Given the description of an element on the screen output the (x, y) to click on. 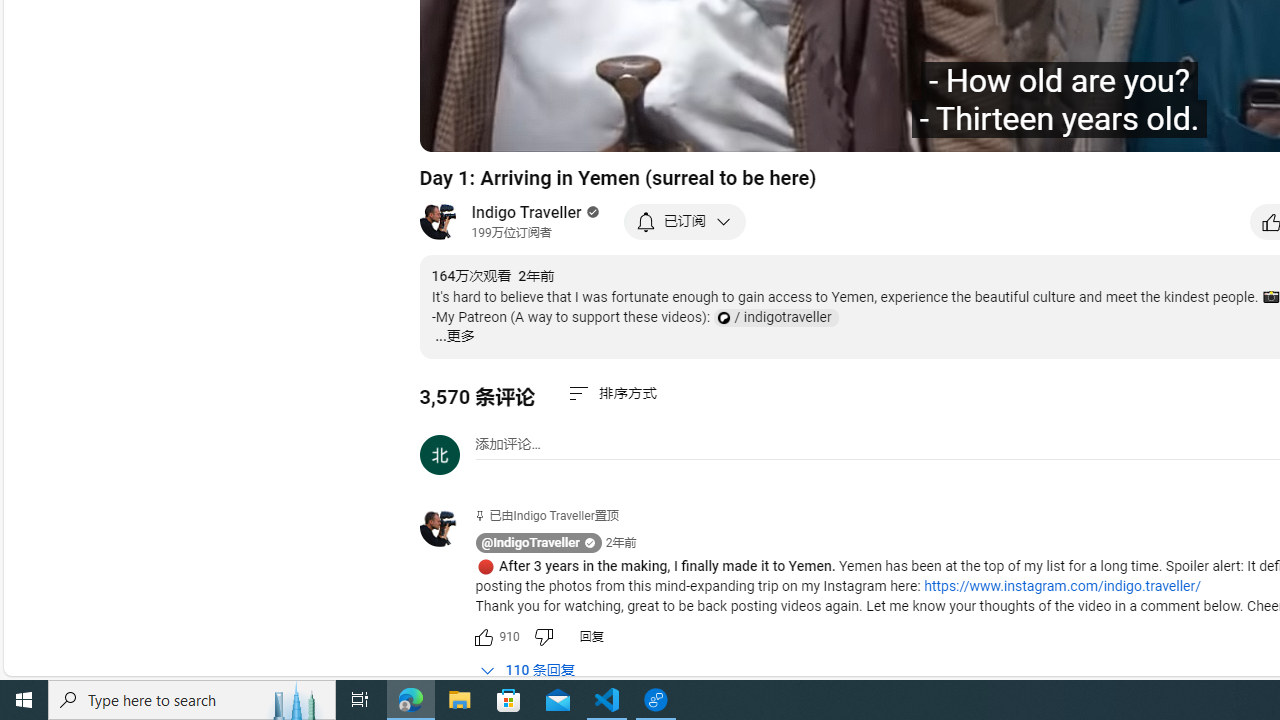
https://www.instagram.com/indigo.traveller/ (1062, 586)
@IndigoTraveller (447, 528)
Patreon Channel Link: indigotraveller (775, 318)
@IndigoTraveller (530, 543)
